Given the description of an element on the screen output the (x, y) to click on. 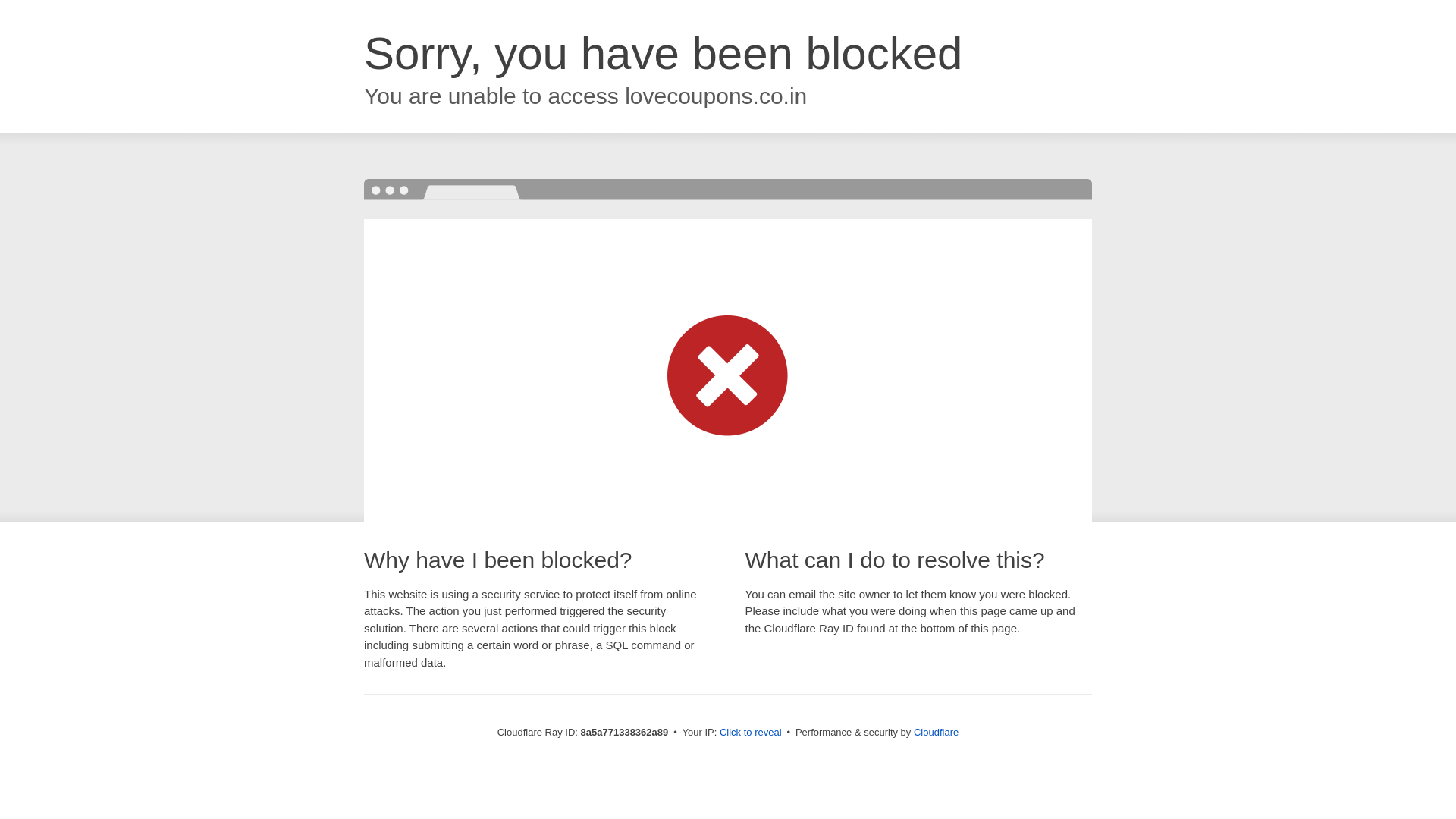
Cloudflare (936, 731)
Click to reveal (750, 732)
